Given the description of an element on the screen output the (x, y) to click on. 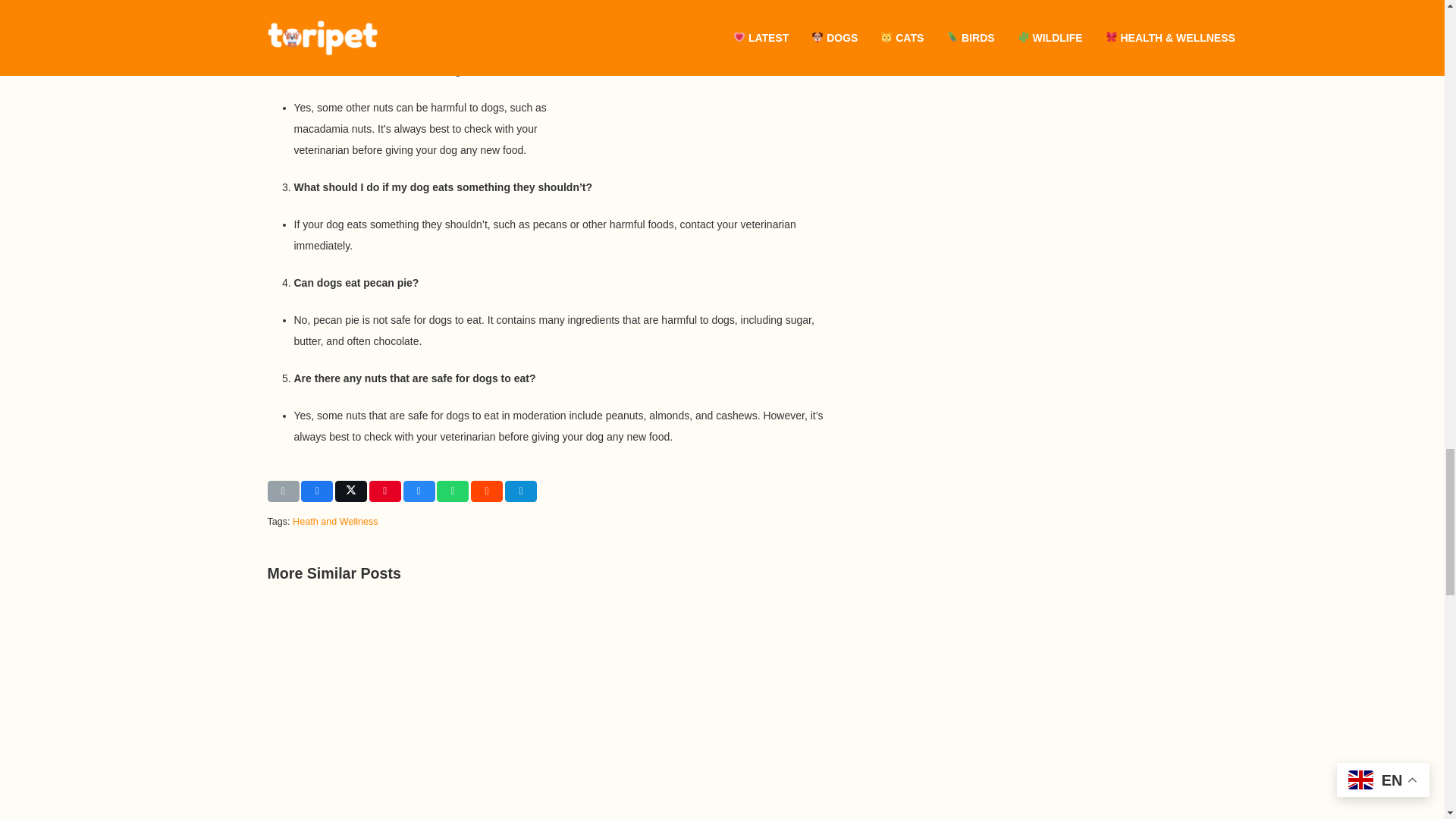
Heath and Wellness (334, 521)
Email this (282, 491)
Share this (486, 491)
Tweet this (350, 491)
Share this (452, 491)
Pin this (385, 491)
Share this (419, 491)
Share this (521, 491)
Share this (317, 491)
